Given the description of an element on the screen output the (x, y) to click on. 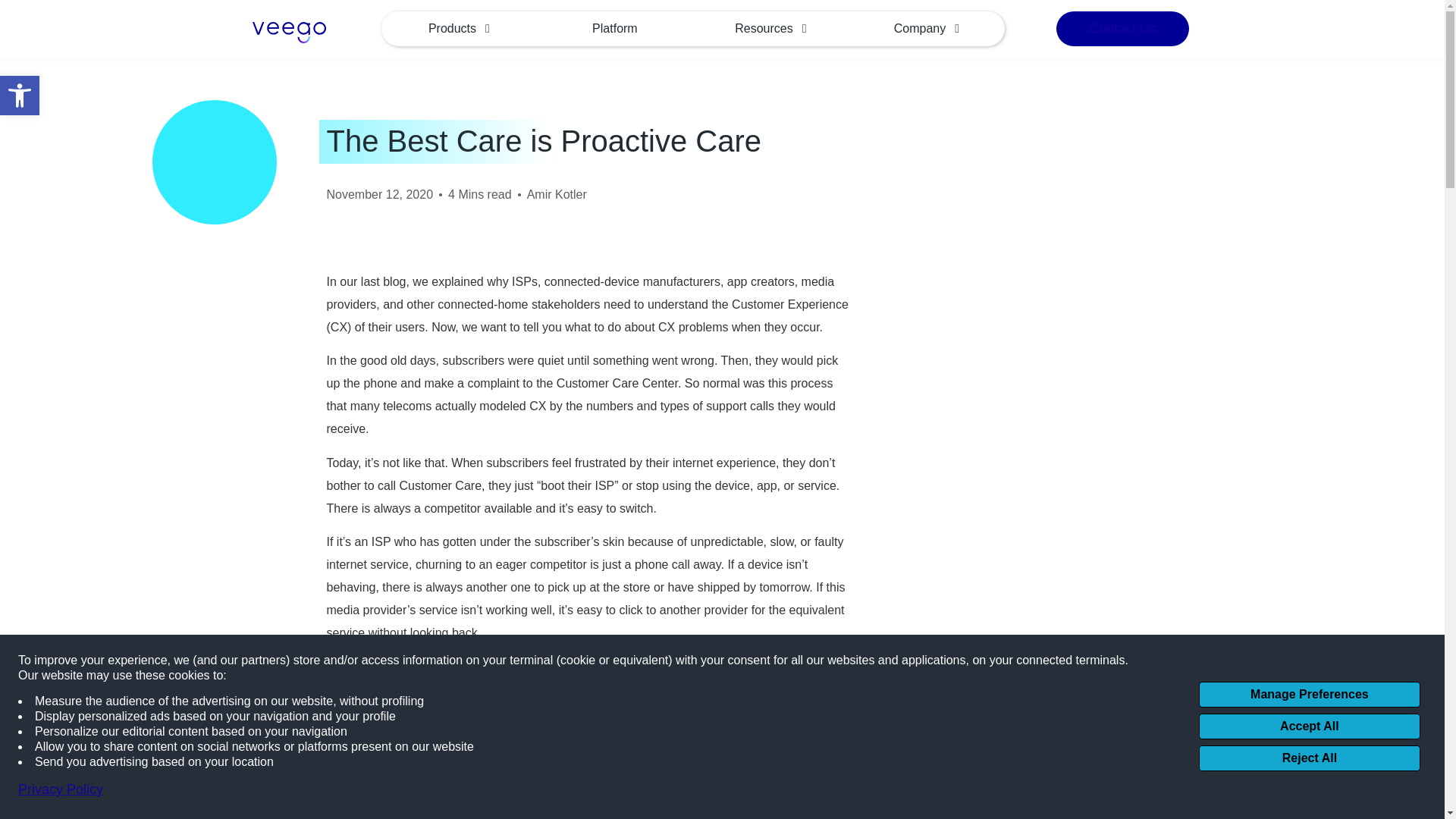
Company (926, 28)
Privacy Policy (60, 789)
Accessibility Tools (19, 95)
Reject All (1309, 758)
Accept All (1309, 726)
Resources (770, 28)
Accessibility Tools (19, 95)
Products (19, 95)
Platform (459, 28)
